Given the description of an element on the screen output the (x, y) to click on. 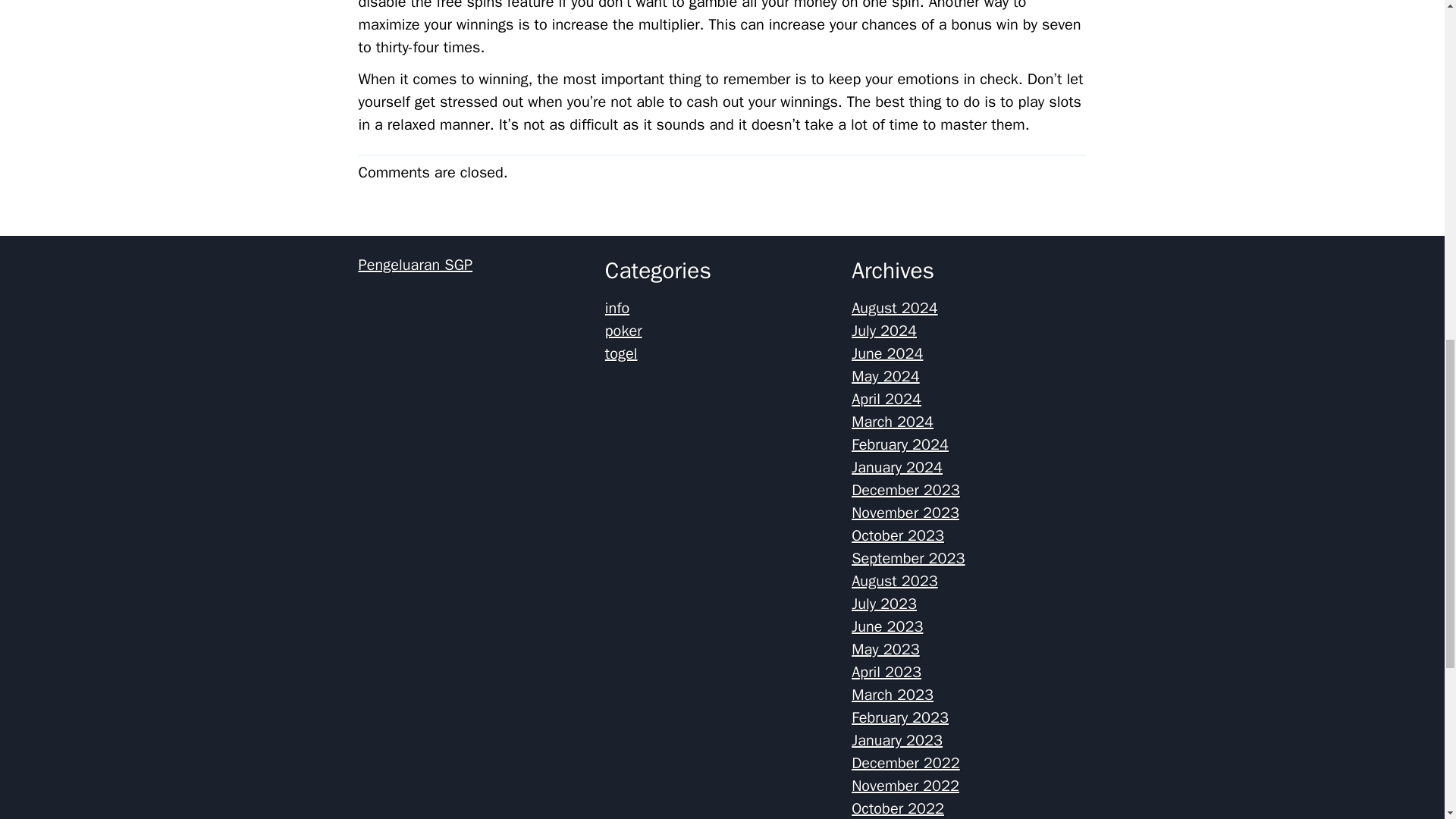
August 2024 (894, 307)
December 2022 (905, 763)
June 2024 (887, 353)
November 2022 (905, 785)
togel (621, 353)
July 2024 (884, 330)
August 2023 (894, 580)
info (616, 307)
February 2024 (900, 444)
October 2023 (897, 535)
December 2023 (905, 489)
March 2024 (892, 421)
May 2024 (885, 375)
January 2024 (896, 466)
April 2023 (886, 671)
